Given the description of an element on the screen output the (x, y) to click on. 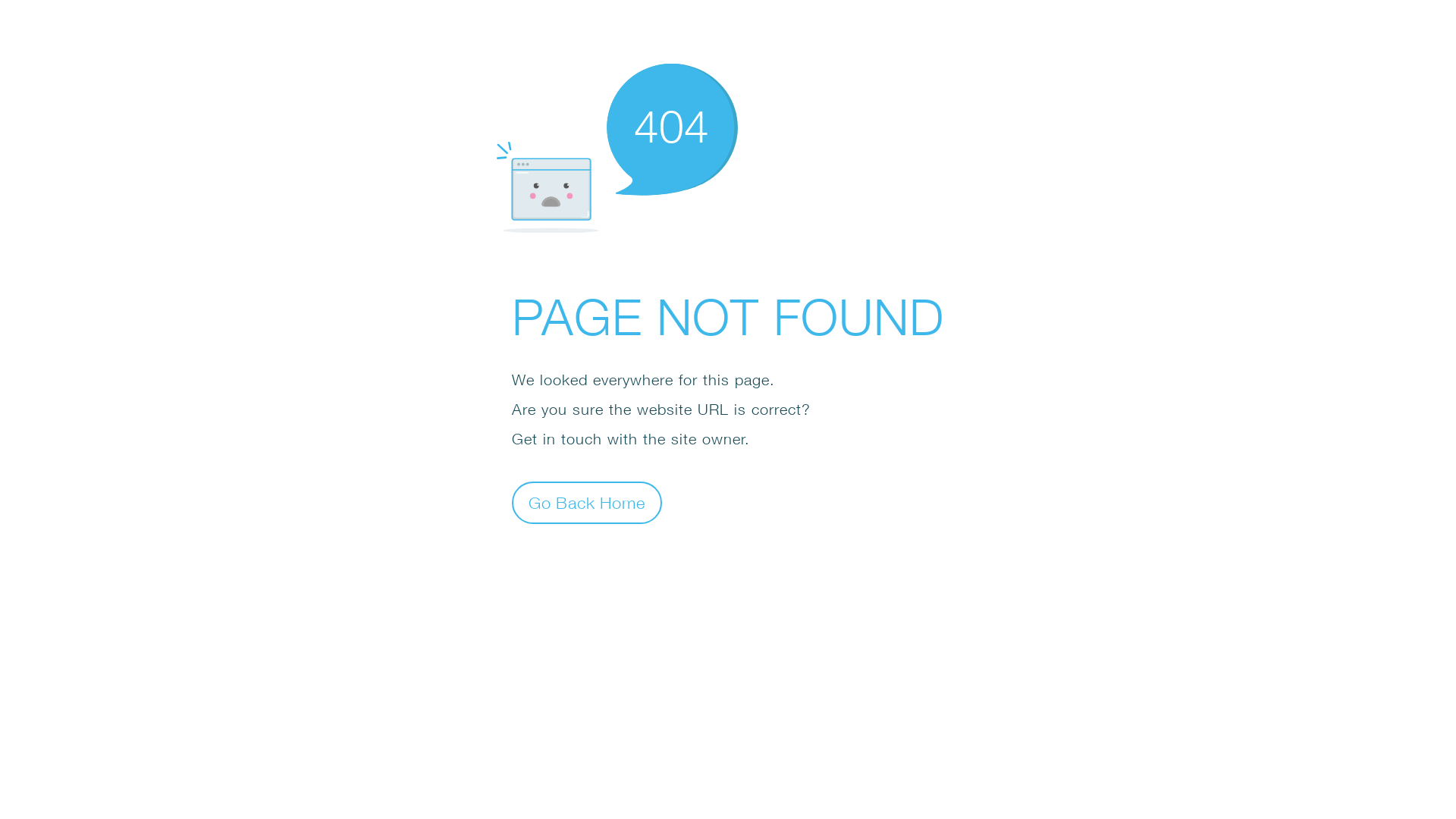
Go Back Home Element type: text (586, 502)
